Given the description of an element on the screen output the (x, y) to click on. 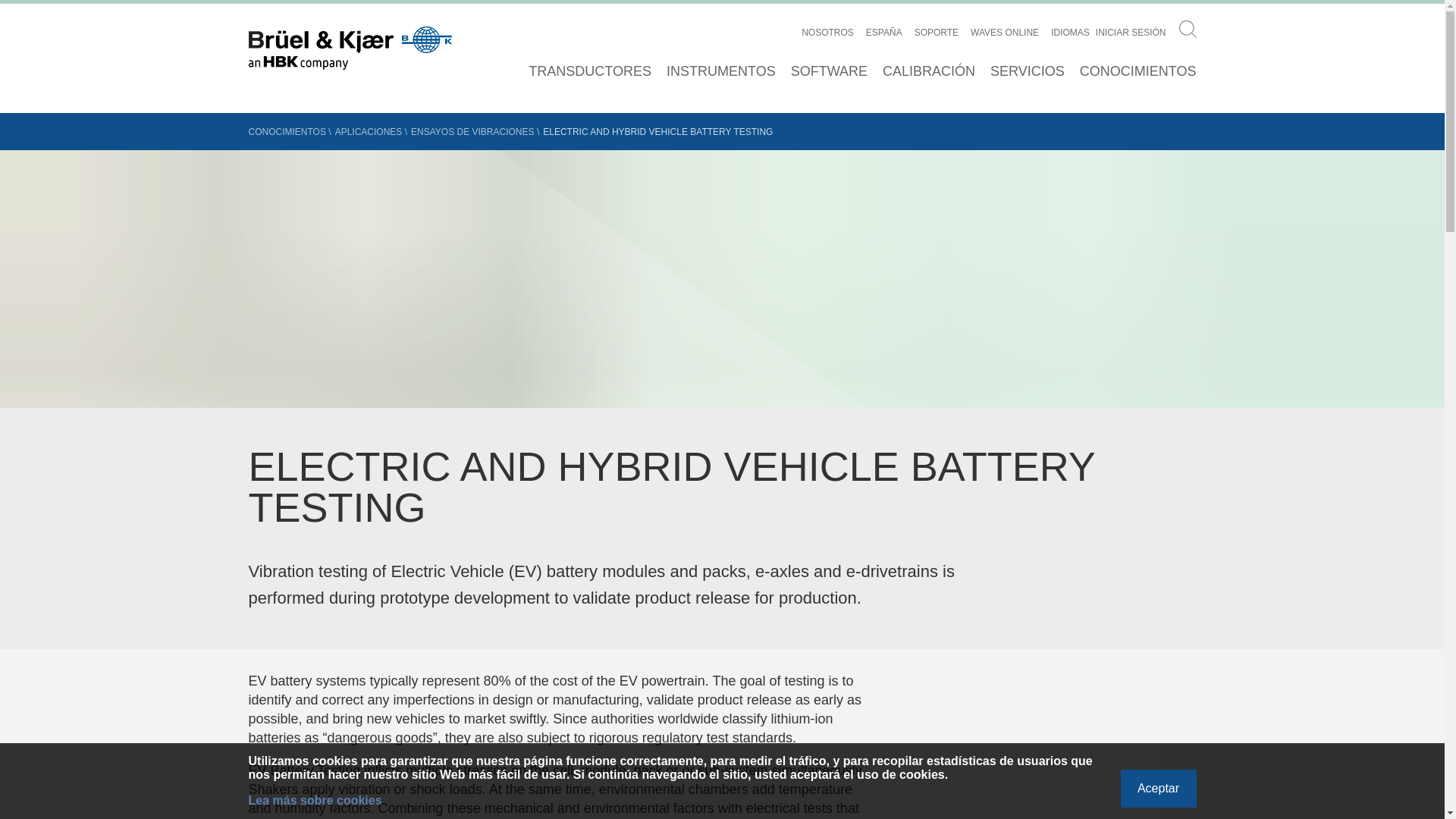
NOSOTROS (827, 32)
TRANSDUCTORES (589, 71)
WAVES ONLINE (1005, 32)
SOPORTE (936, 32)
IDIOMAS (1070, 32)
